Given the description of an element on the screen output the (x, y) to click on. 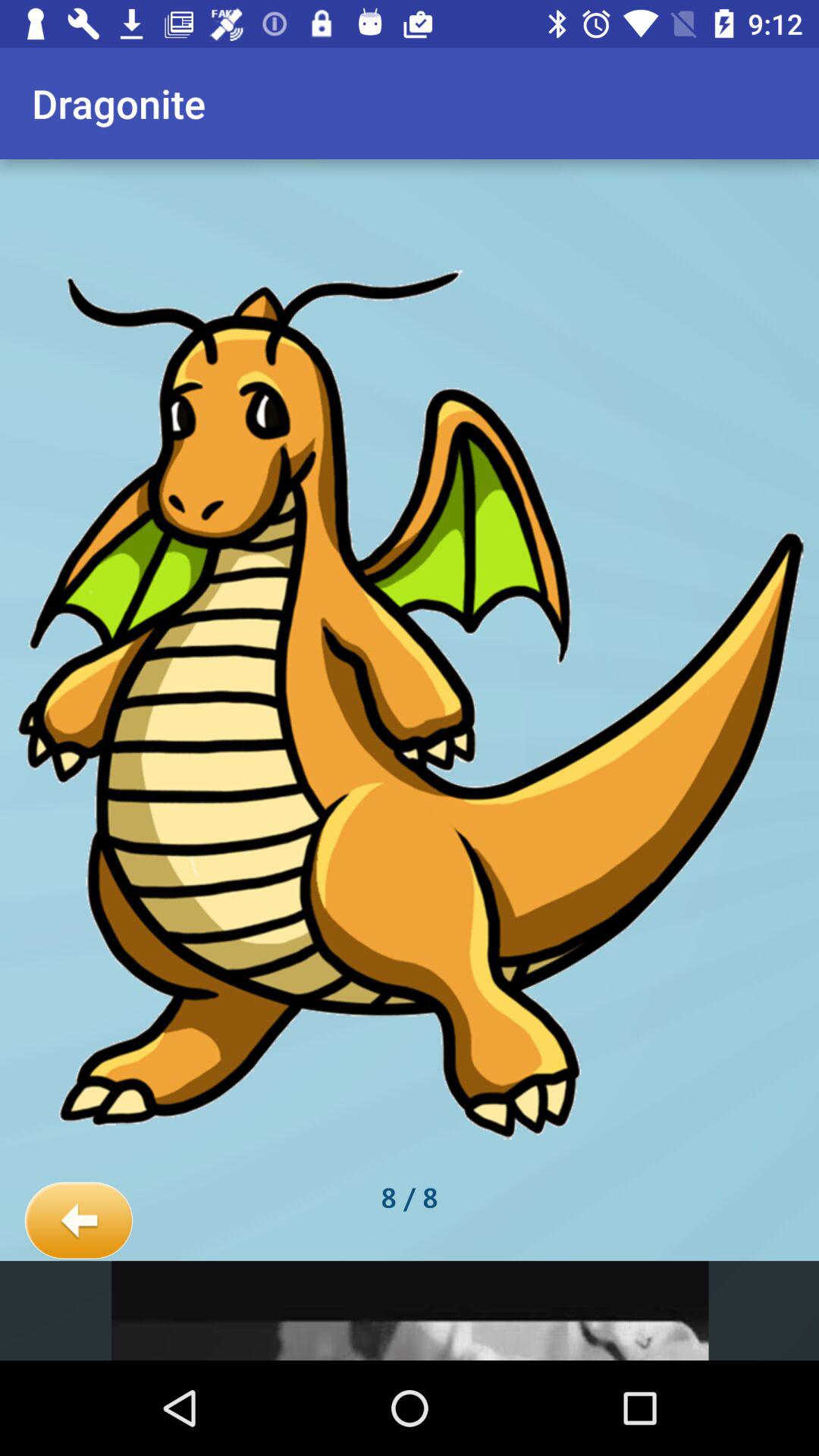
click the icon below dragonite app (78, 1220)
